Given the description of an element on the screen output the (x, y) to click on. 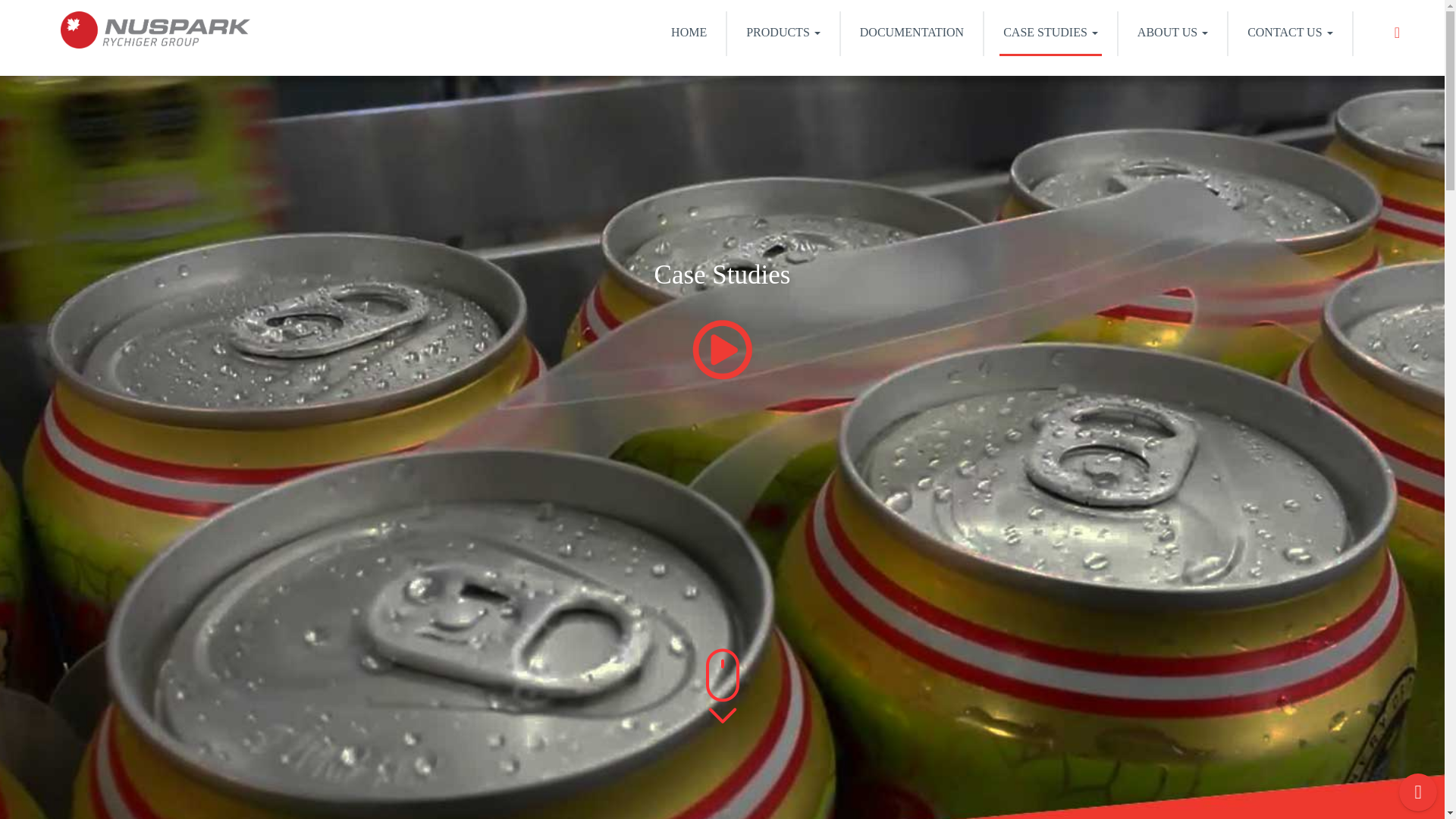
SEARCH (1398, 34)
CASE STUDIES (1050, 33)
CONTACT US (1289, 33)
HOME (688, 33)
DOCUMENTATION (912, 33)
PRODUCTS (783, 33)
ABOUT US (1172, 33)
